Given the description of an element on the screen output the (x, y) to click on. 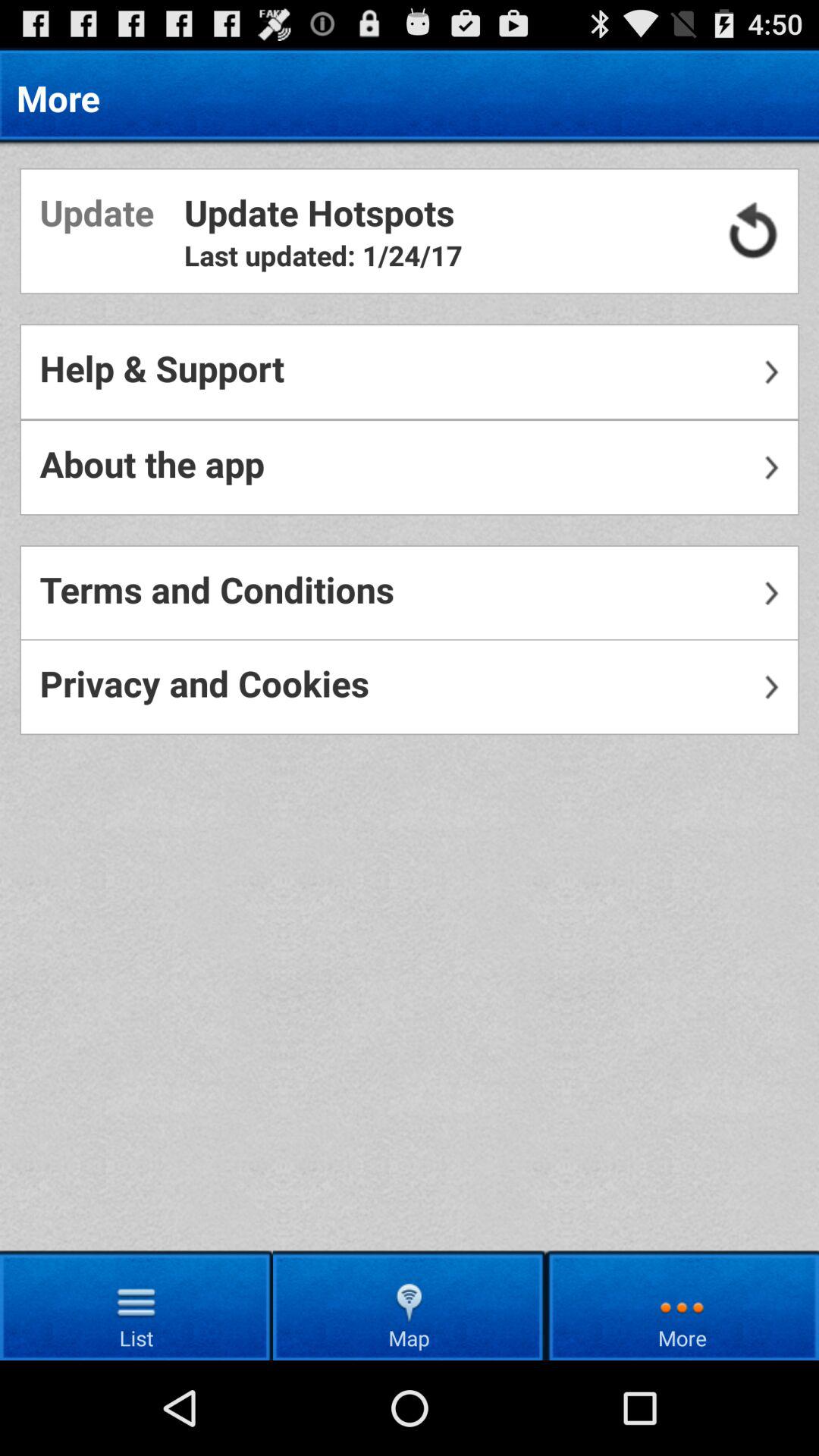
choose item below the last updated 1 icon (409, 371)
